Given the description of an element on the screen output the (x, y) to click on. 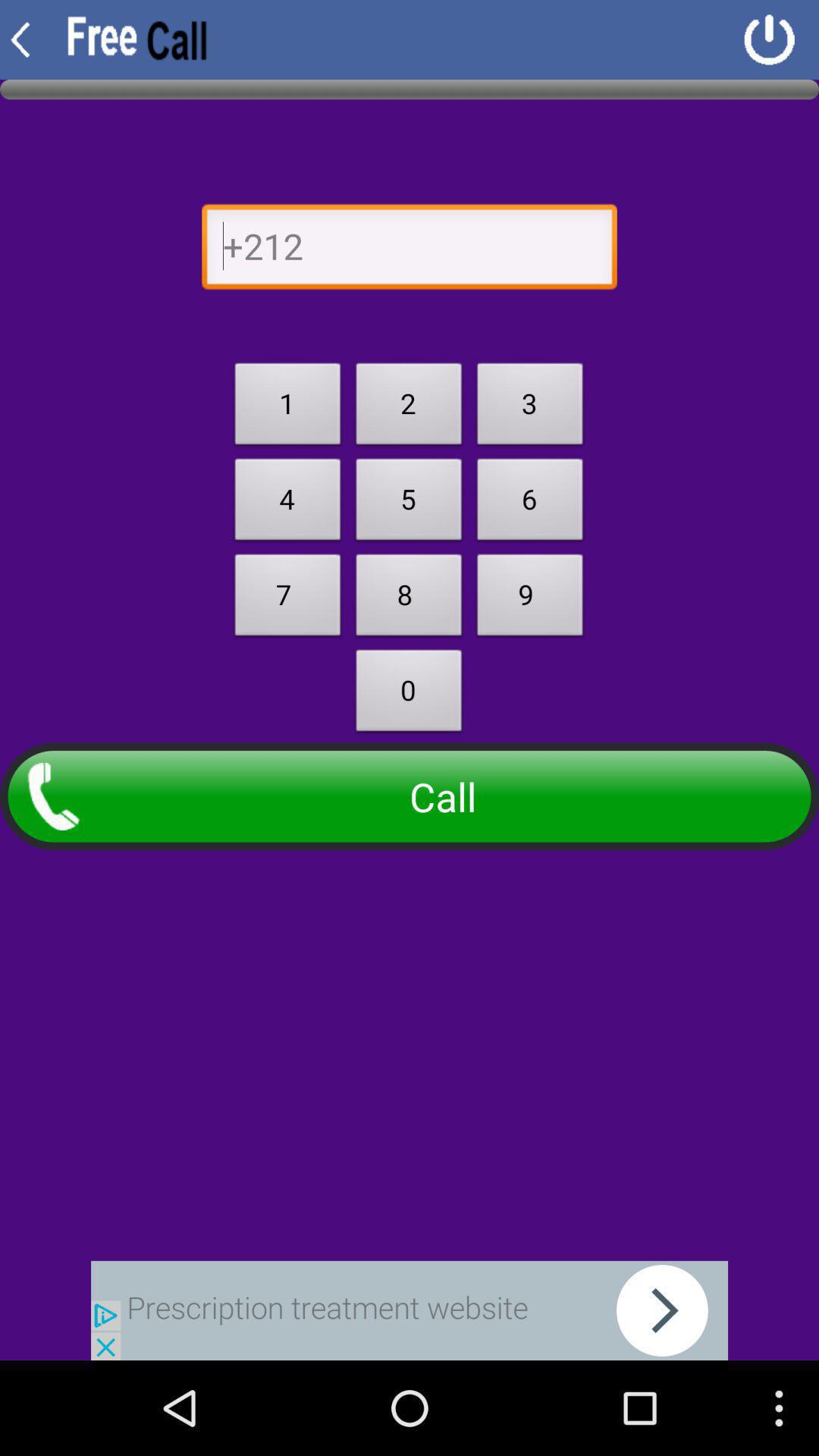
visit advertisement (409, 1310)
